Given the description of an element on the screen output the (x, y) to click on. 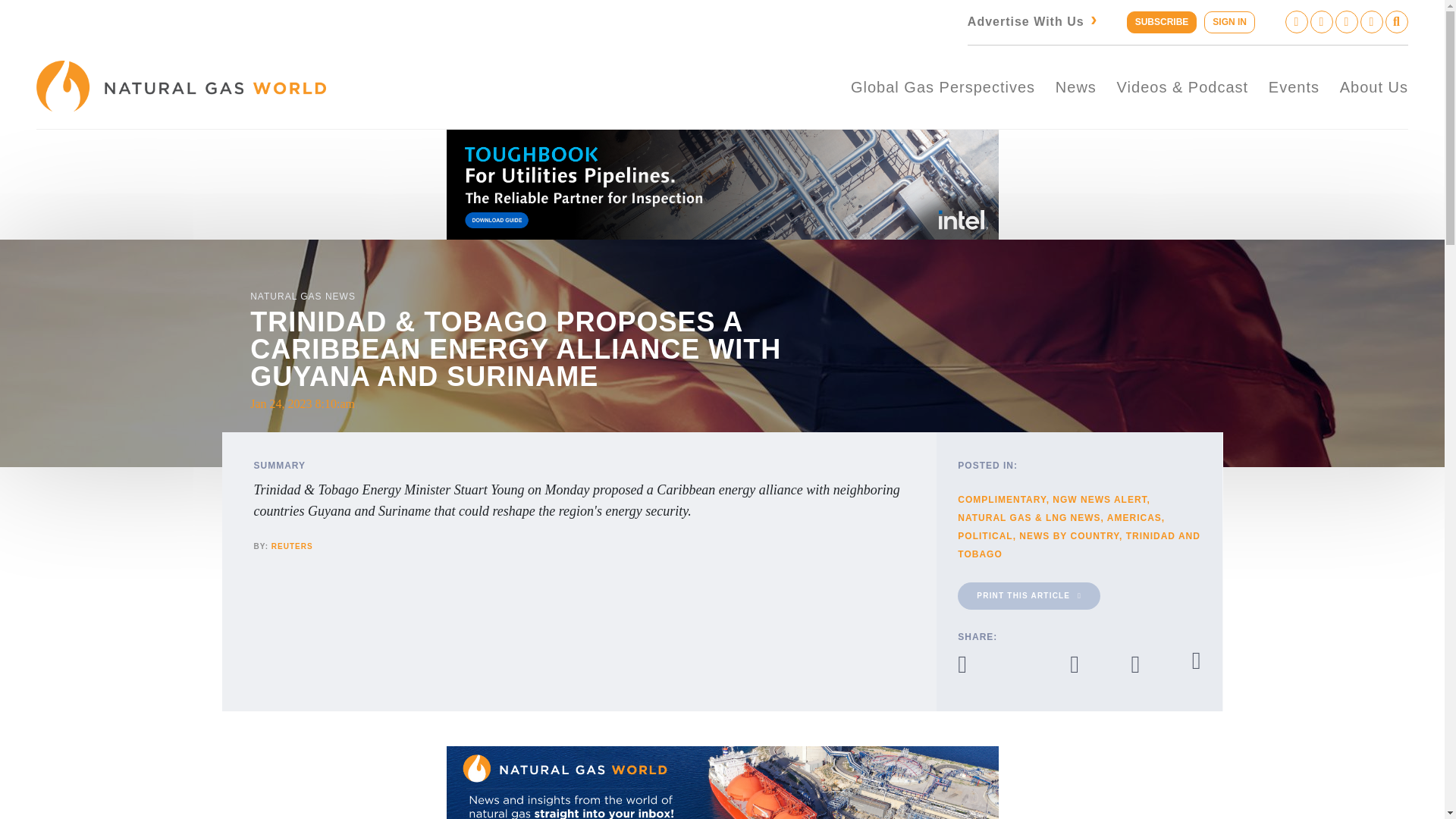
NEWS BY COUNTRY (1069, 535)
COMPLIMENTARY (1001, 499)
About Us (1373, 87)
Global Gas Perspectives (942, 87)
News (1075, 87)
POLITICAL (984, 535)
AMERICAS (1133, 517)
TRINIDAD AND TOBAGO (1078, 544)
Events (1293, 87)
SIGN IN (1229, 22)
PRINT THIS ARTICLE (1029, 595)
SUBSCRIBE (1161, 22)
NGW NEWS ALERT (1099, 499)
